Given the description of an element on the screen output the (x, y) to click on. 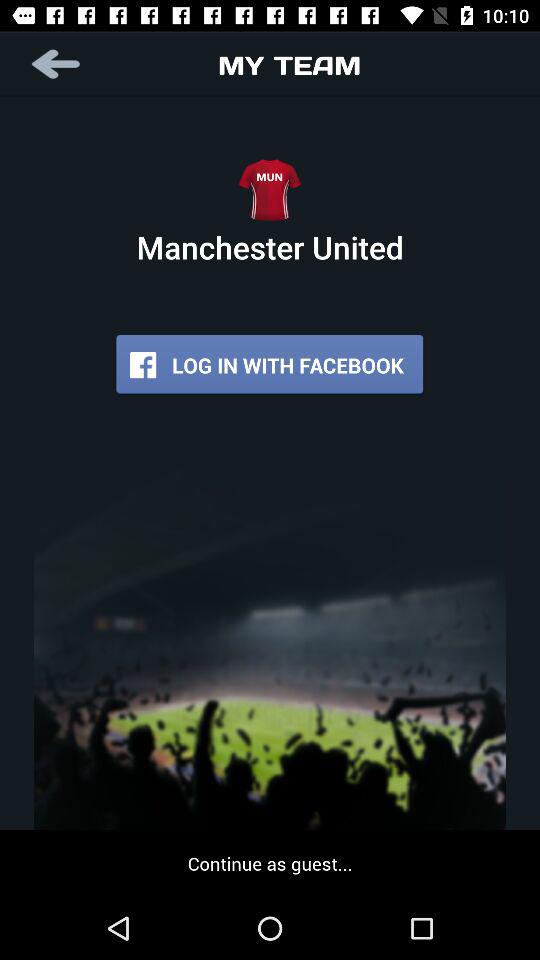
click the item at the center (269, 364)
